Given the description of an element on the screen output the (x, y) to click on. 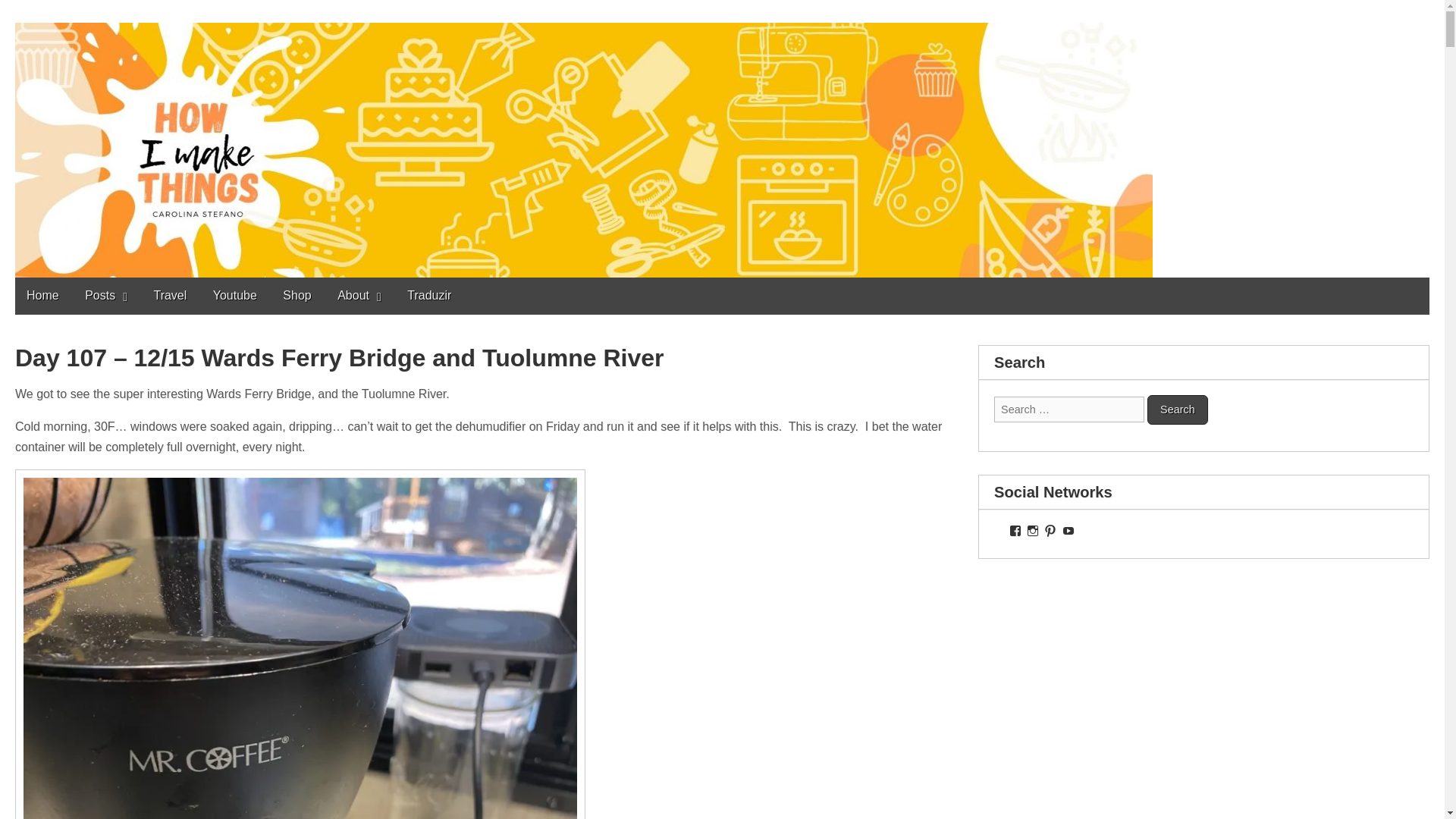
Travel (169, 294)
Carolina Stefano (104, 12)
Search (1177, 409)
Traduzir (429, 294)
Home (41, 294)
Shop (295, 294)
Carolina Stefano (104, 12)
Search (1177, 409)
Posts (106, 295)
Youtube (234, 294)
About (359, 295)
